Given the description of an element on the screen output the (x, y) to click on. 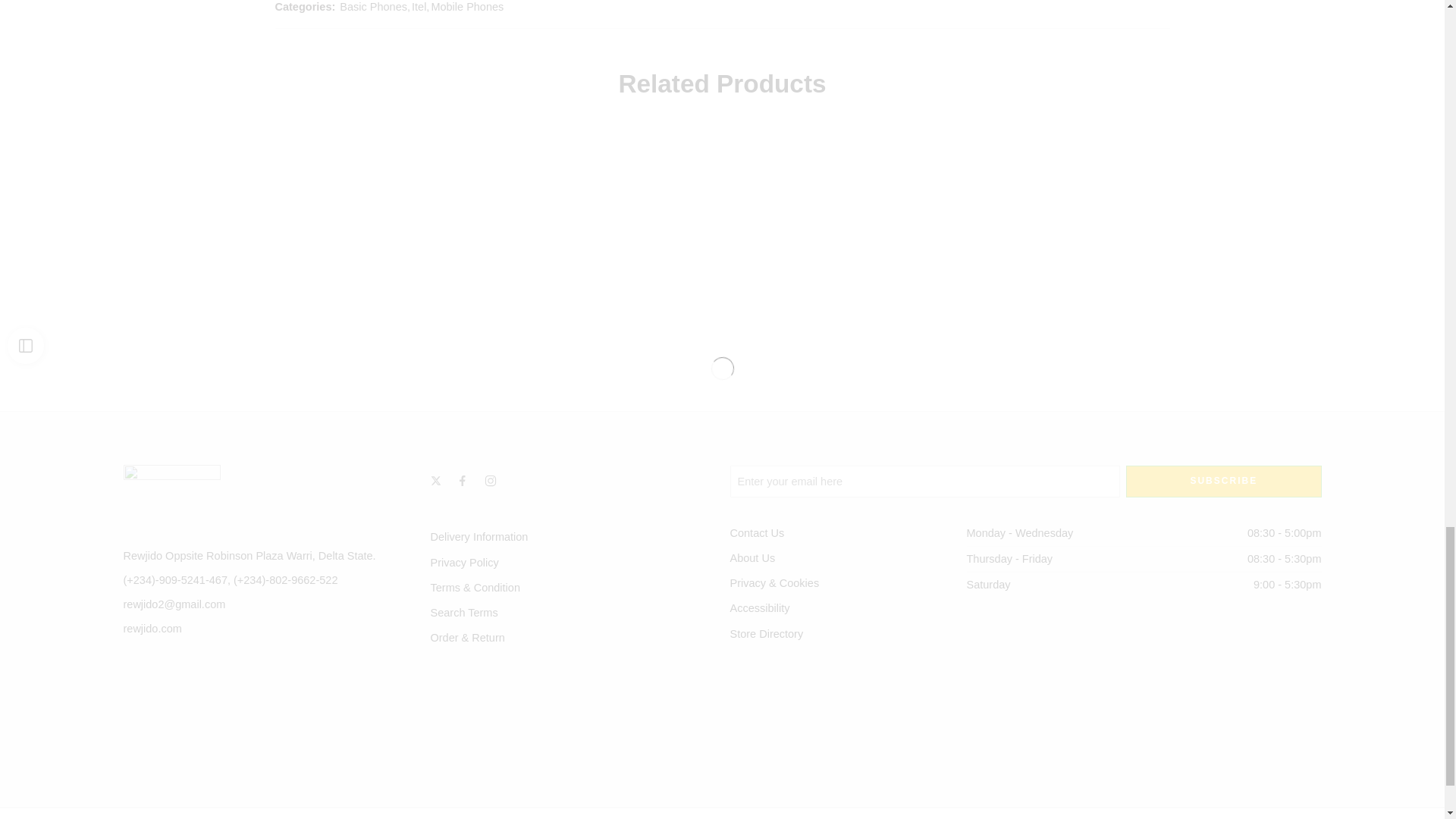
SUBSCRIBE (1222, 481)
Basic Phones (373, 8)
Mobile Phones (466, 8)
